Given the description of an element on the screen output the (x, y) to click on. 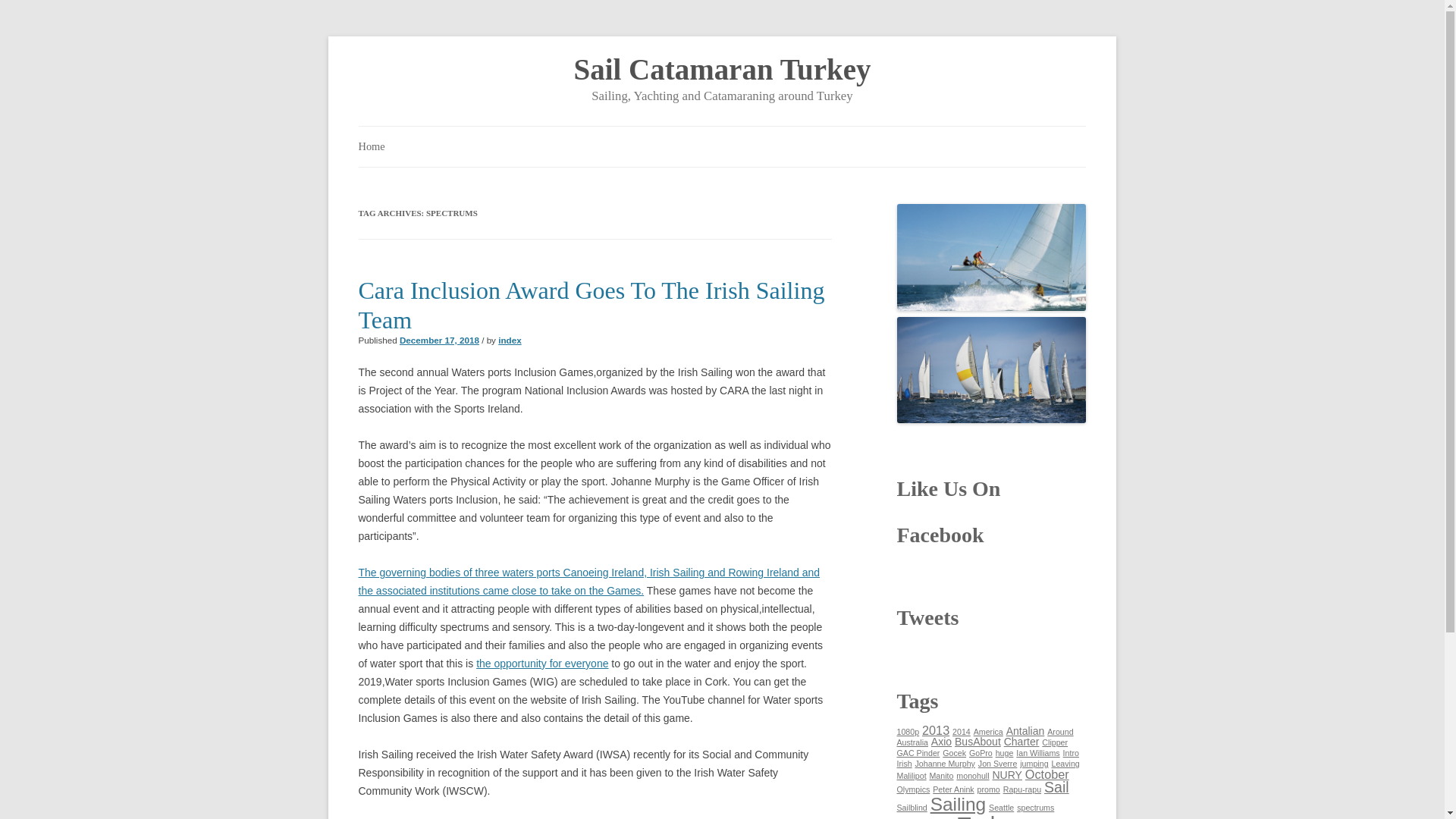
Manito (940, 775)
December 17, 2018 (438, 339)
huge (1004, 752)
Antalian (1025, 730)
the opportunity for everyone (542, 663)
11:58 am (438, 339)
Cara Inclusion Award Goes To The Irish Sailing Team (591, 304)
Clipper (1054, 741)
Leaving (1064, 763)
View all posts by index (509, 339)
jumping (1034, 763)
monohull (972, 775)
BusAbout (978, 741)
